Given the description of an element on the screen output the (x, y) to click on. 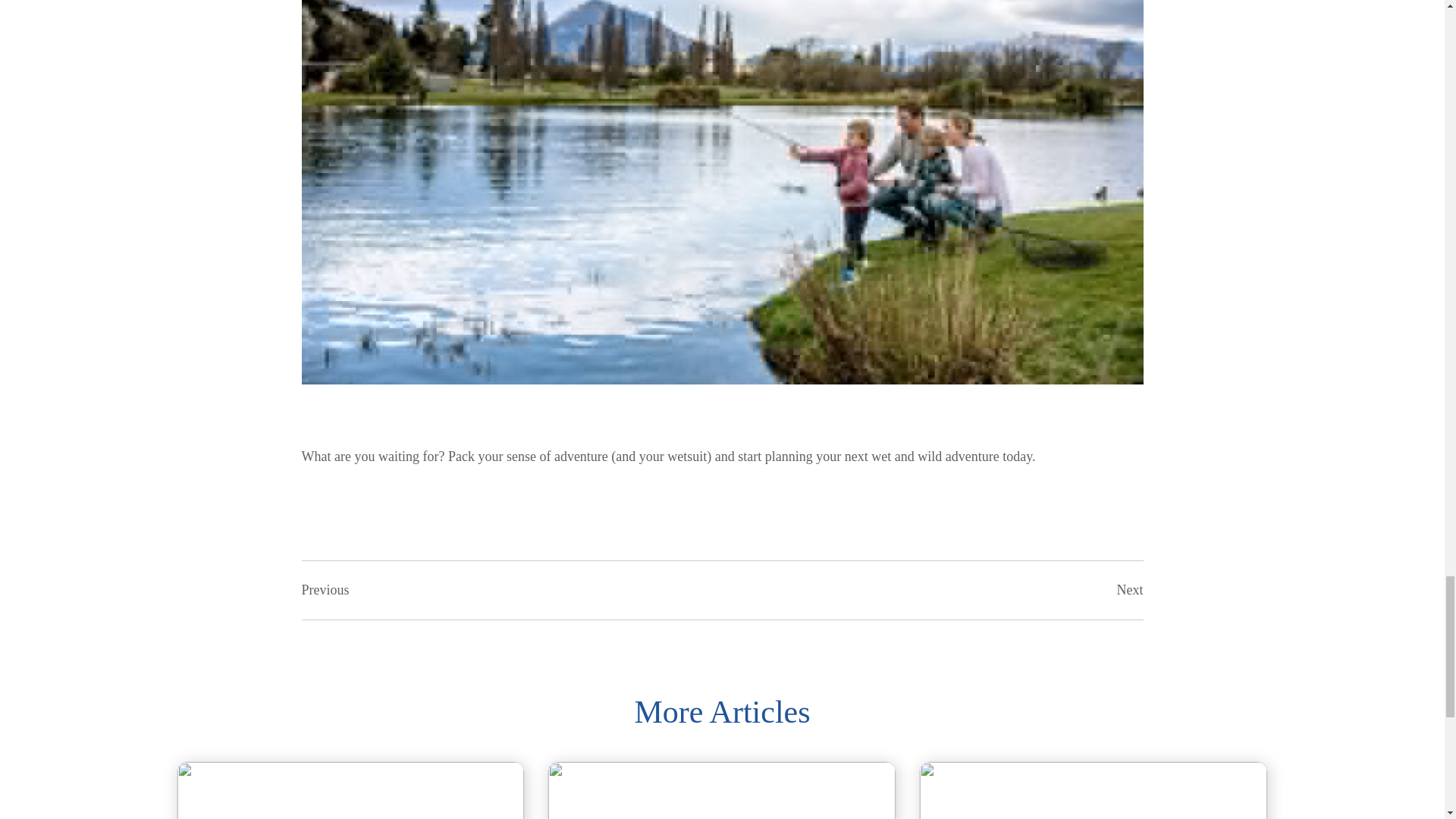
Discover Family Fun at Hampshire Holiday Parks New Zealand (1093, 790)
Next (1129, 589)
Previous (325, 589)
